Given the description of an element on the screen output the (x, y) to click on. 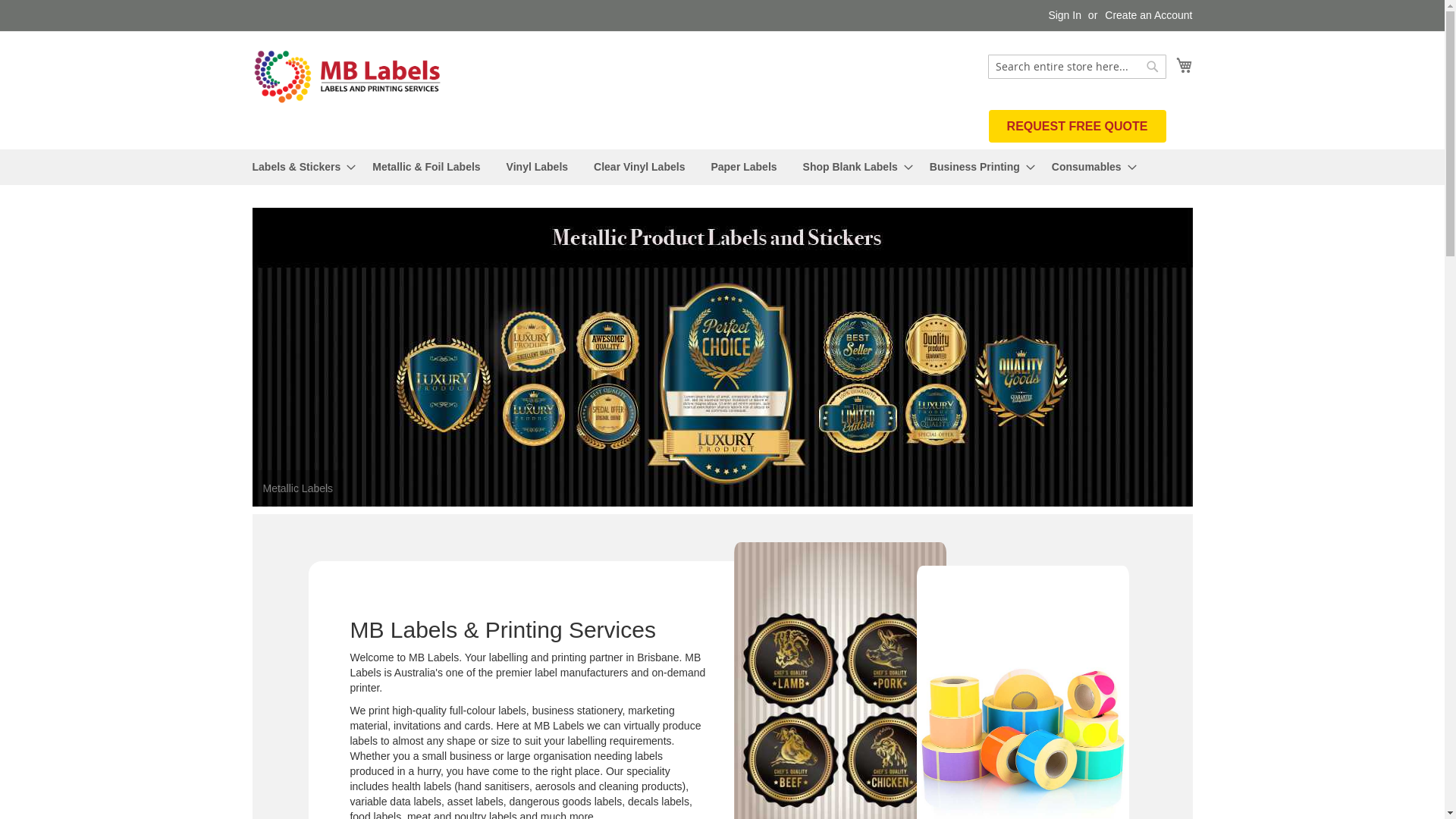
Metallic & Foil Labels Element type: text (426, 167)
Labels & Stickers Element type: text (298, 167)
REQUEST FREE QUOTE Element type: text (1077, 125)
Shop Blank Labels Element type: text (853, 167)
Consumables Element type: text (1089, 167)
Business Printing Element type: text (977, 167)
Clear Vinyl Labels Element type: text (638, 167)
Vinyl Labels Element type: text (537, 167)
Metallic Labels Element type: text (721, 356)
Paper Labels Element type: text (743, 167)
Search Element type: text (1152, 66)
My Cart Element type: text (1183, 64)
Sign In Element type: text (1064, 15)
Create an Account Element type: text (1148, 15)
MB Labels - Labels, stickers and printing manufacturer. Element type: hover (346, 76)
